Given the description of an element on the screen output the (x, y) to click on. 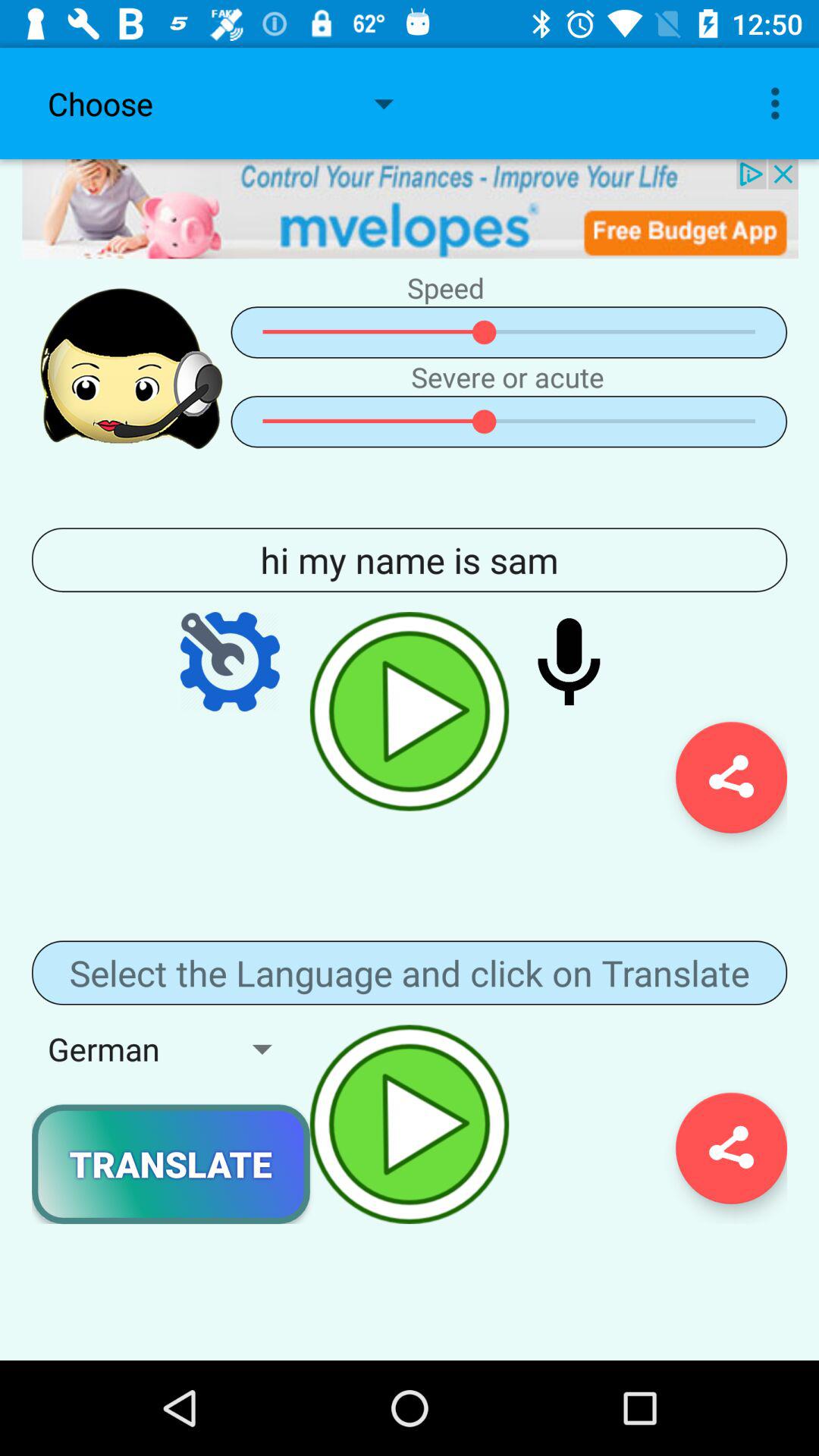
sharing files (731, 777)
